Given the description of an element on the screen output the (x, y) to click on. 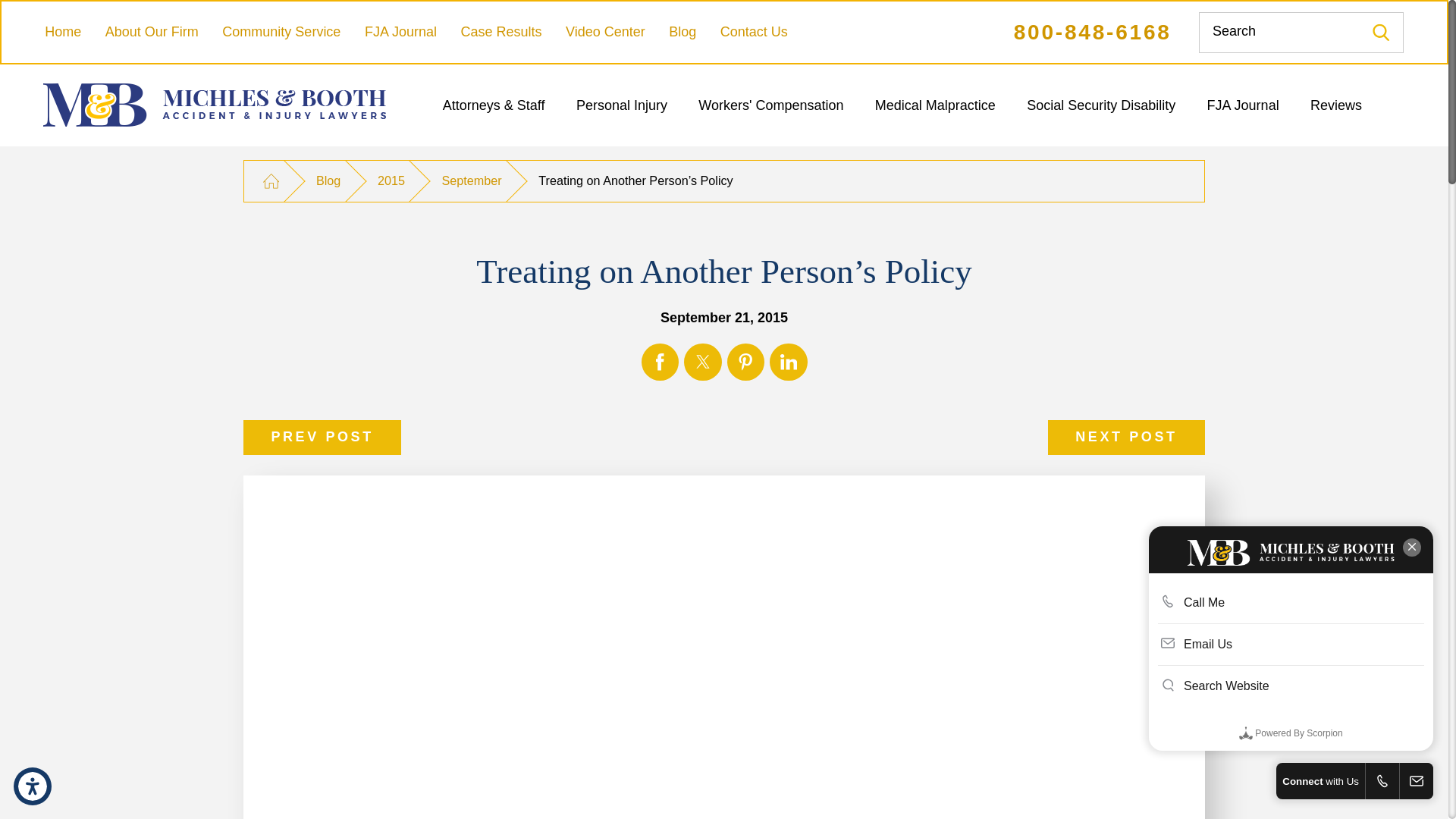
Community Service (281, 31)
FJA Journal (400, 31)
Go Home (270, 180)
Video Center (605, 31)
Personal Injury (621, 104)
Contact Us (753, 31)
Search Icon (1381, 31)
Home (63, 31)
About Our Firm (151, 31)
Search Our Site (1381, 31)
Case Results (500, 31)
Open the accessibility options menu (31, 786)
Blog (681, 31)
800-848-6168 (1092, 32)
